Given the description of an element on the screen output the (x, y) to click on. 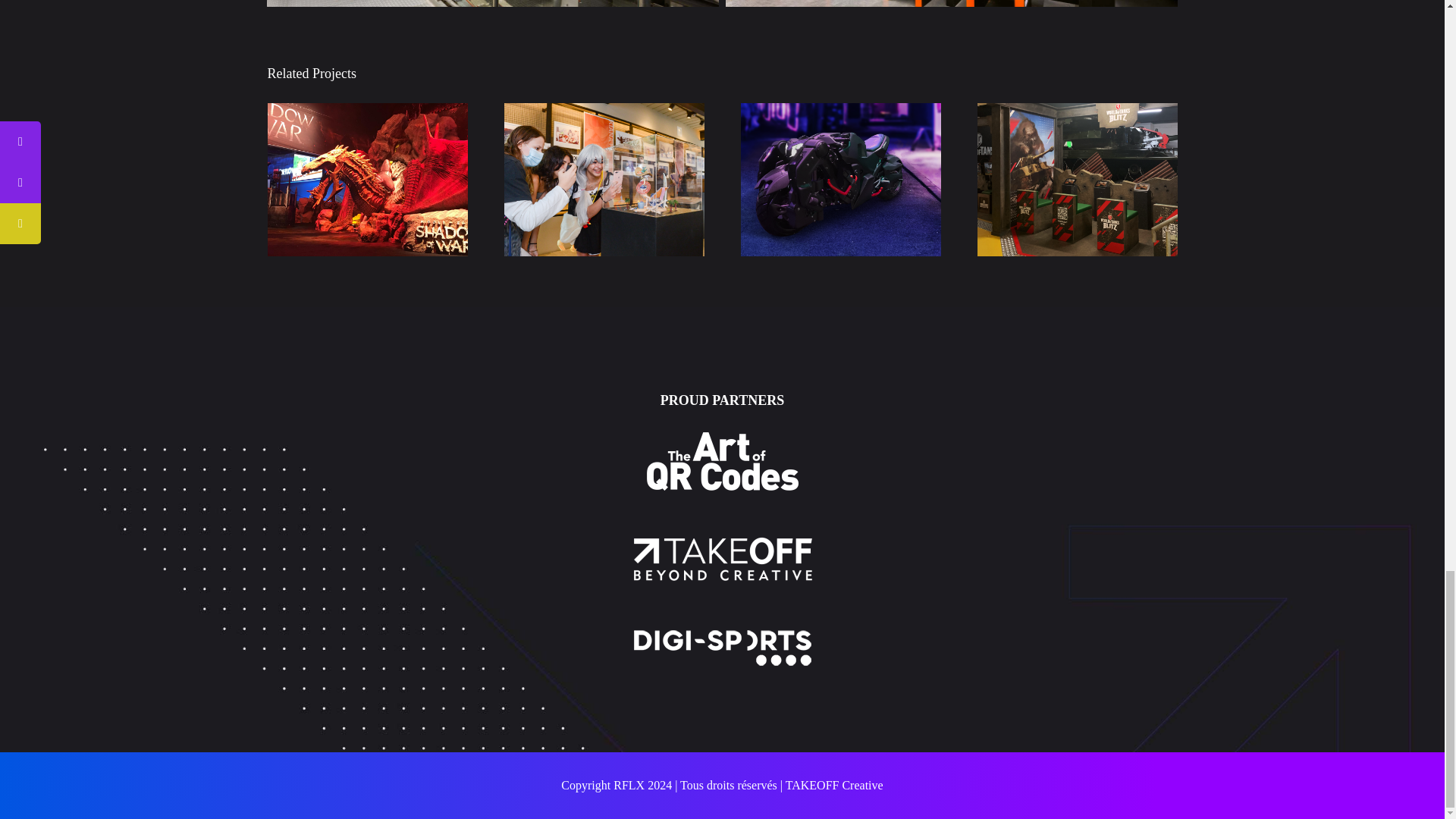
TAKEOFF Creative (834, 784)
2 (491, 3)
4 (950, 3)
